Given the description of an element on the screen output the (x, y) to click on. 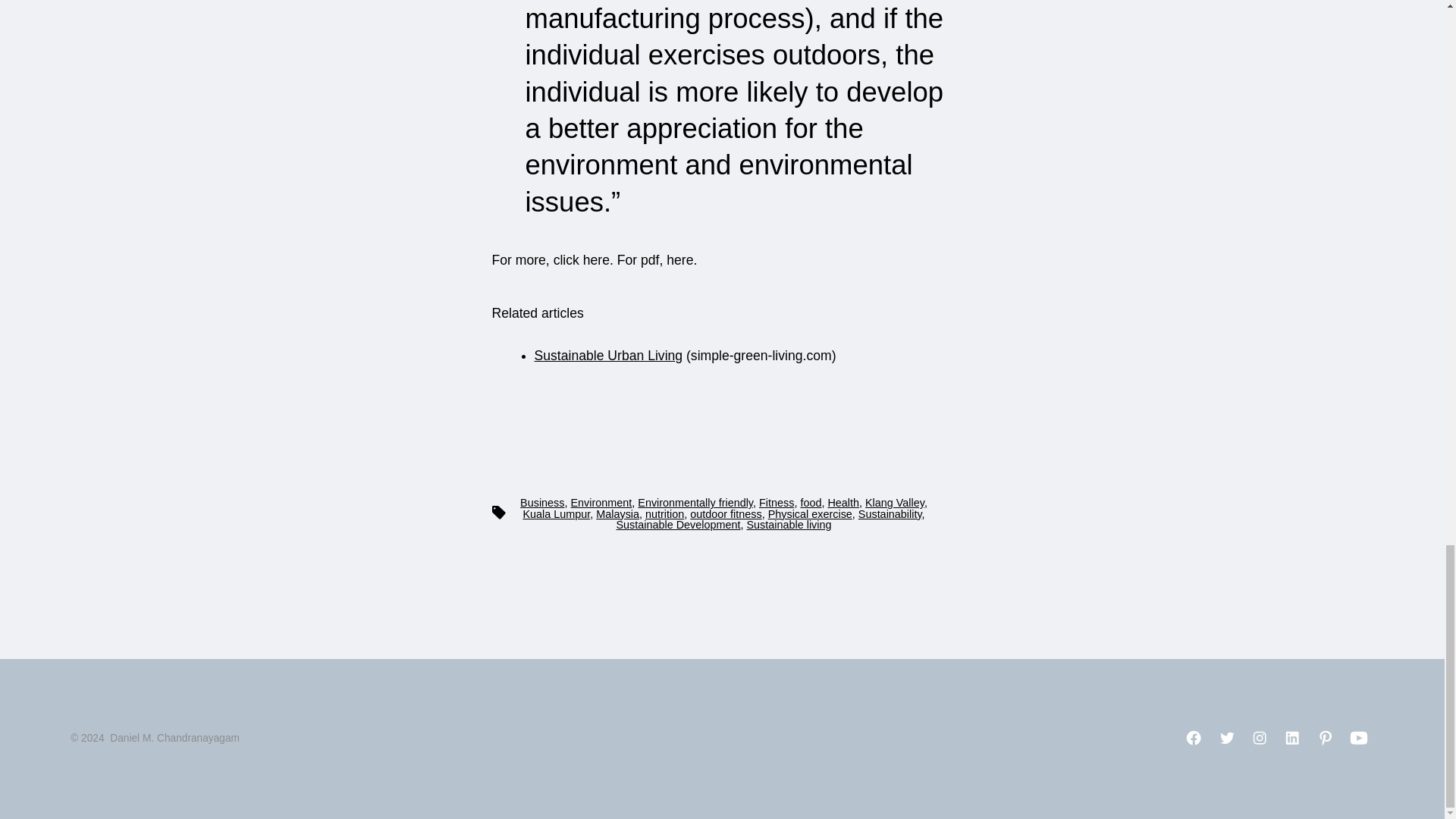
Malaysia (617, 513)
Klang Valley (894, 502)
food (810, 502)
Sustainable Urban Living (608, 355)
Sustainability (890, 513)
nutrition (664, 513)
Health (843, 502)
Open LinkedIn in a new tab (1292, 737)
Sustainable living (788, 524)
Open Facebook in a new tab (1193, 737)
